Given the description of an element on the screen output the (x, y) to click on. 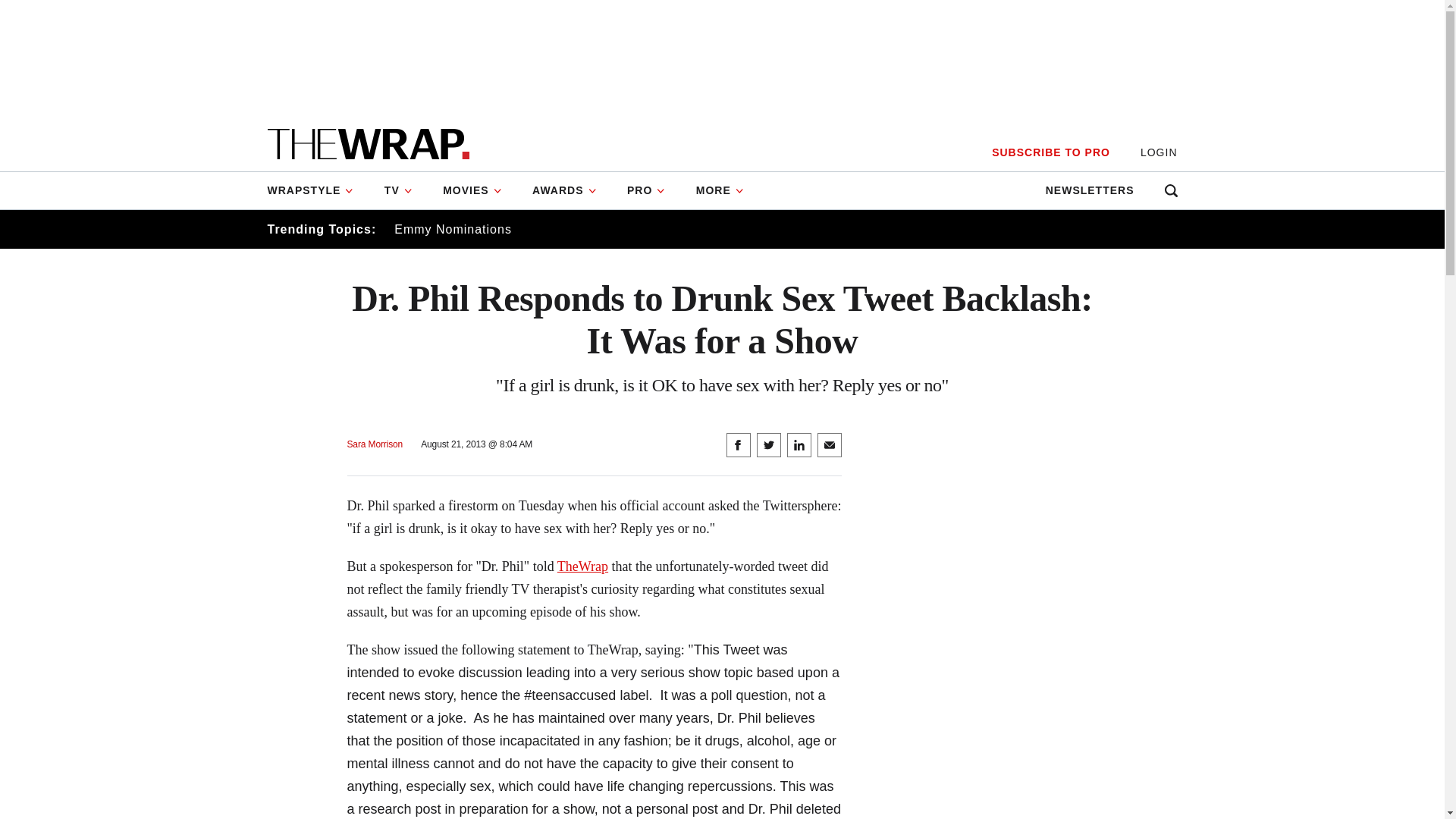
SUBSCRIBE TO PRO (1050, 152)
TV (398, 190)
AWARDS (563, 190)
PRO (646, 190)
MORE (719, 190)
WRAPSTYLE (317, 190)
MOVIES (472, 190)
LOGIN (1158, 152)
Posts by Sara Morrison (375, 444)
